Given the description of an element on the screen output the (x, y) to click on. 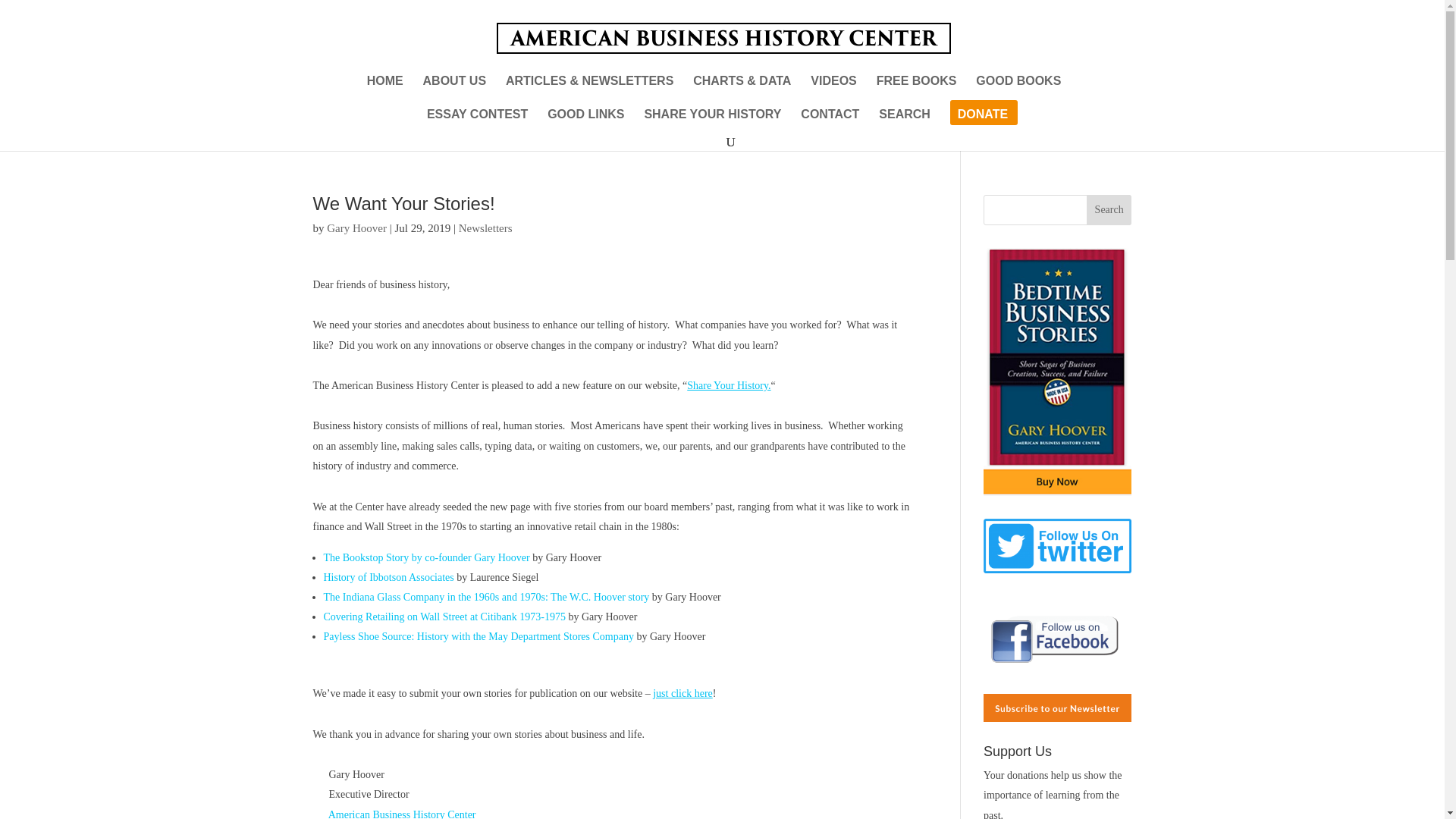
Newsletters (485, 227)
FREE BOOKS (916, 87)
VIDEOS (833, 87)
CONTACT (829, 120)
just click here (682, 693)
Posts by Gary Hoover (356, 227)
Covering Retailing on Wall Street at Citibank 1973-1975 (443, 616)
History of Ibbotson Associates (387, 577)
Share Your History. (728, 385)
Gary Hoover (356, 227)
ESSAY CONTEST (476, 120)
HOME (384, 87)
GOOD LINKS (585, 120)
